Given the description of an element on the screen output the (x, y) to click on. 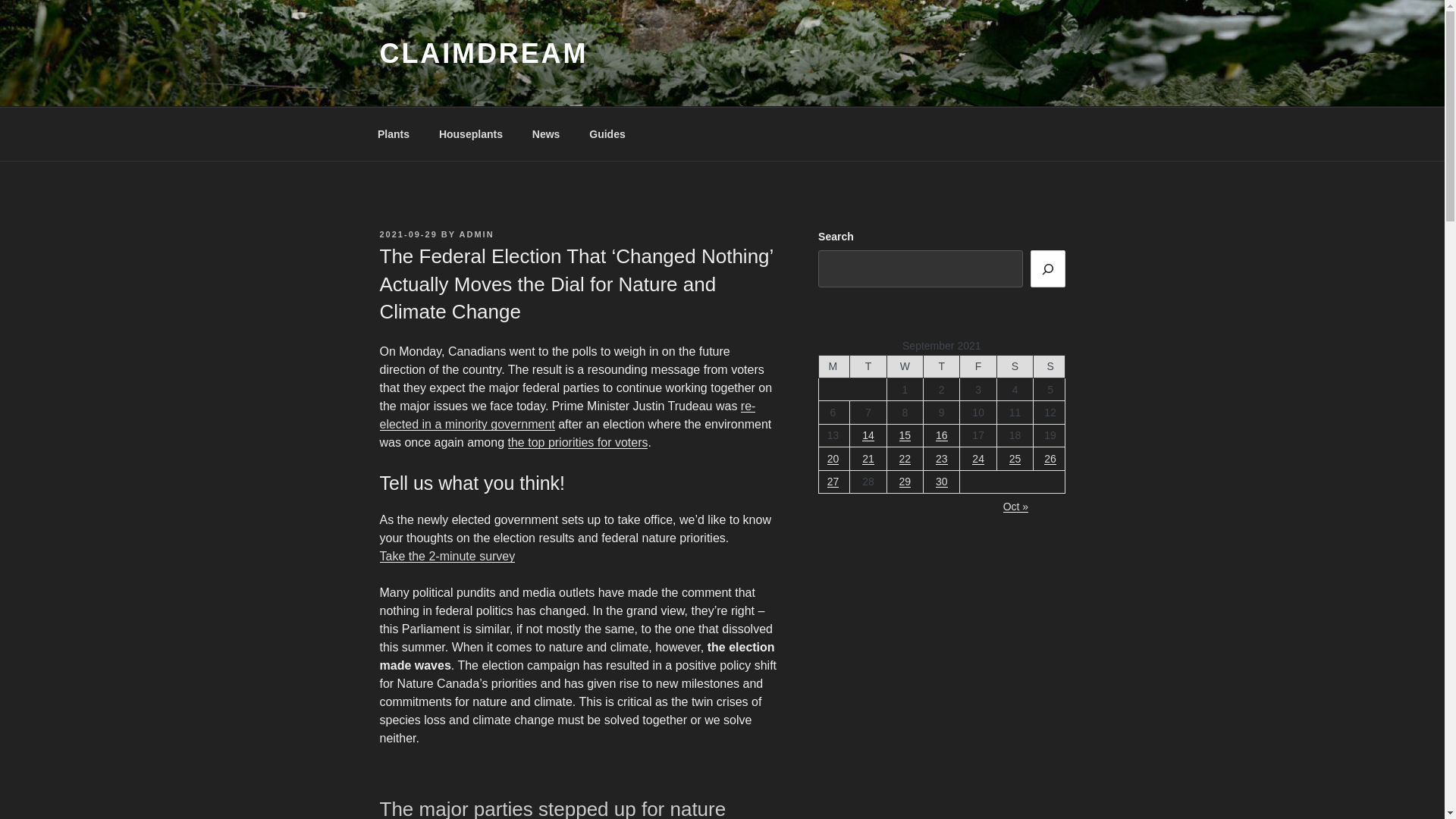
15 (905, 435)
16 (941, 435)
re-elected in a minority government (566, 414)
24 (978, 458)
the top priorities for voters (577, 441)
14 (868, 435)
Guides (607, 133)
Tuesday (868, 365)
Take the 2-minute survey (446, 555)
29 (905, 481)
